Given the description of an element on the screen output the (x, y) to click on. 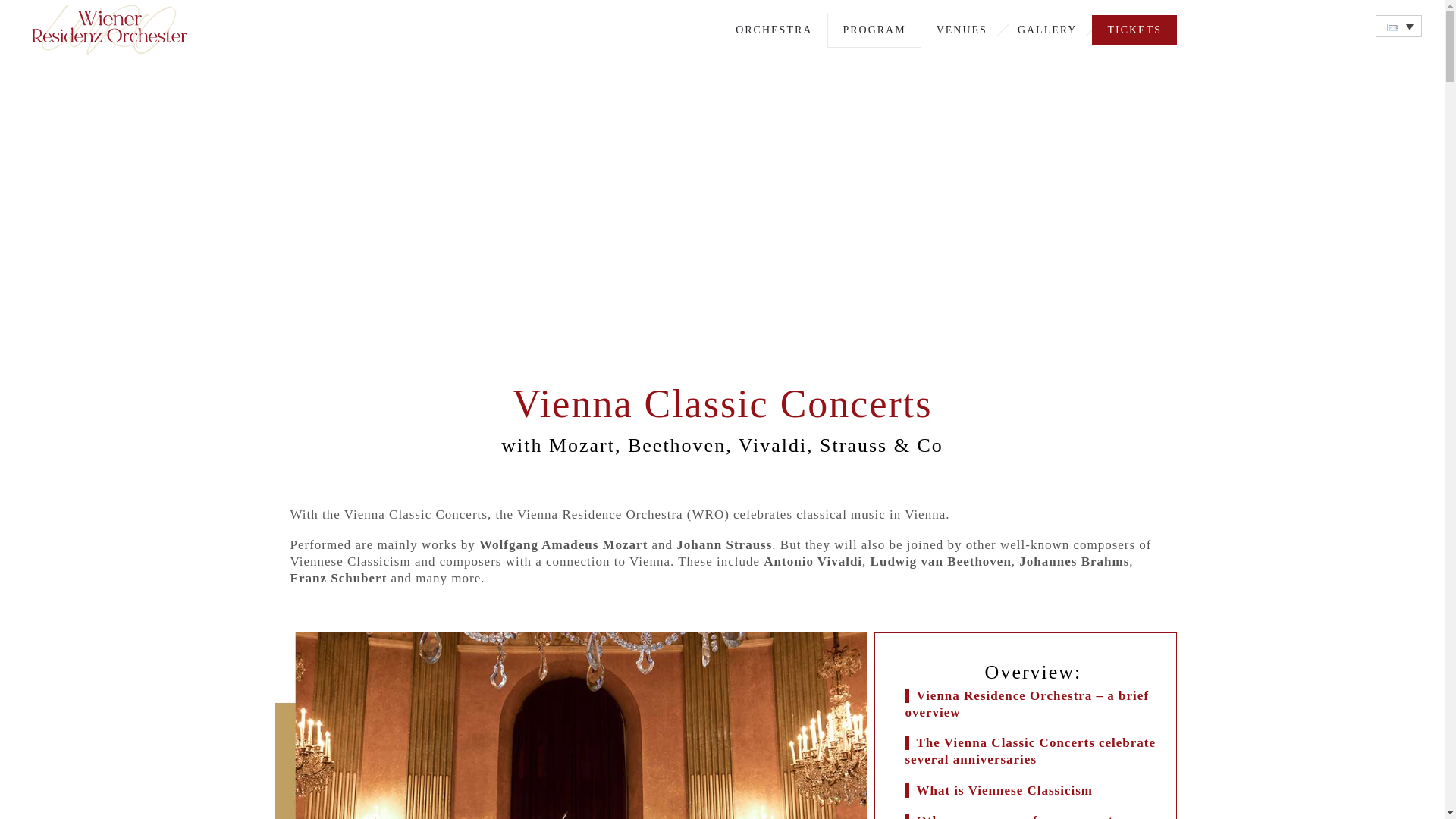
The Vienna Classic Concerts celebrate several anniversaries (1030, 750)
What is Viennese Classicism (1003, 789)
PROGRAM (873, 30)
GALLERY (1048, 30)
TICKETS (1134, 30)
ORCHESTRA (773, 30)
VENUES (962, 30)
Other composers of our concerts (1016, 816)
